Given the description of an element on the screen output the (x, y) to click on. 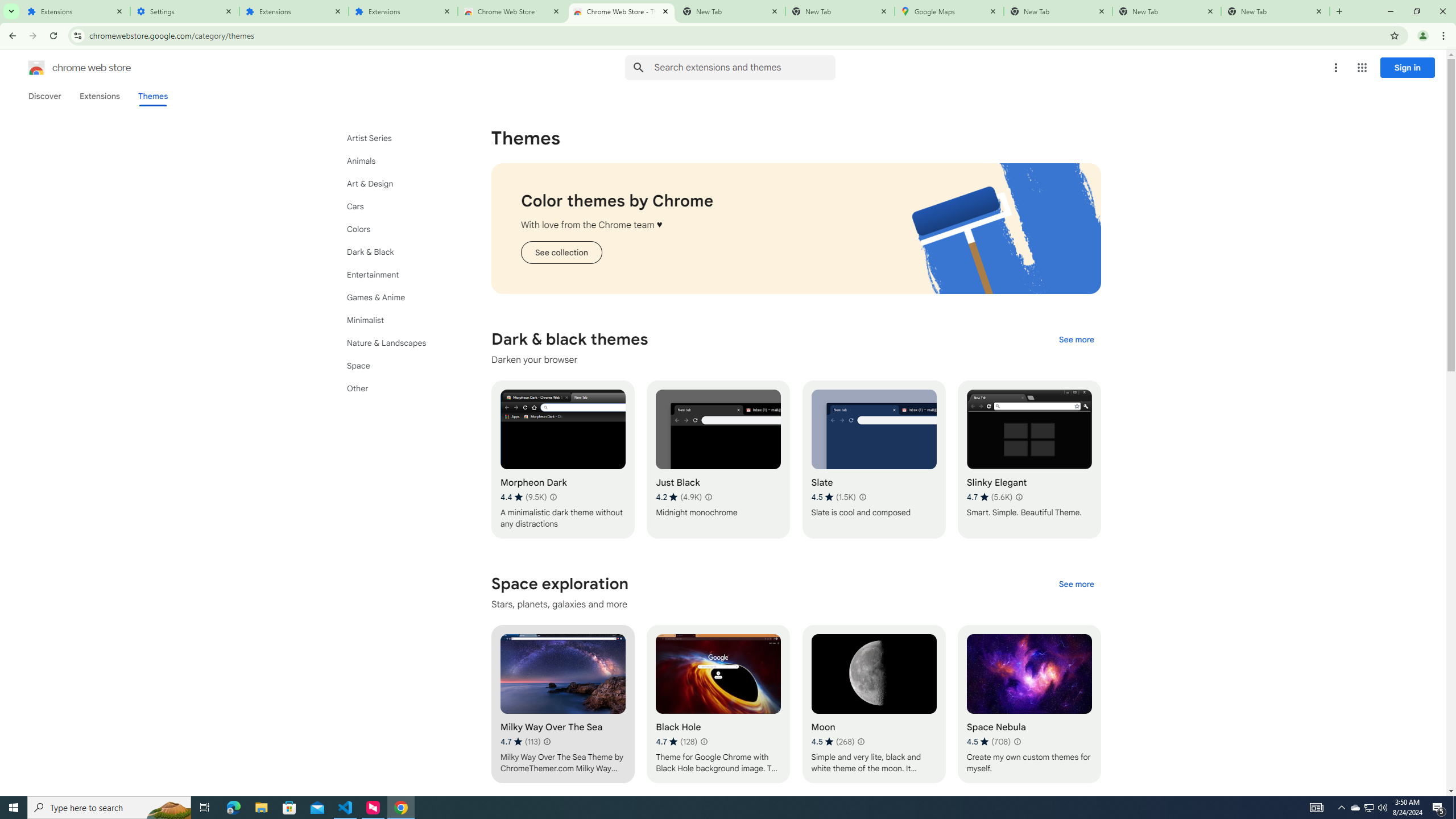
Dark & Black (398, 251)
Entertainment (398, 274)
Moon (873, 703)
Extensions (293, 11)
Black Hole (718, 703)
New Tab (839, 11)
Art & Design (398, 182)
Themes (152, 95)
Animals (398, 160)
Discover (43, 95)
Chrome Web Store logo chrome web store (67, 67)
